Given the description of an element on the screen output the (x, y) to click on. 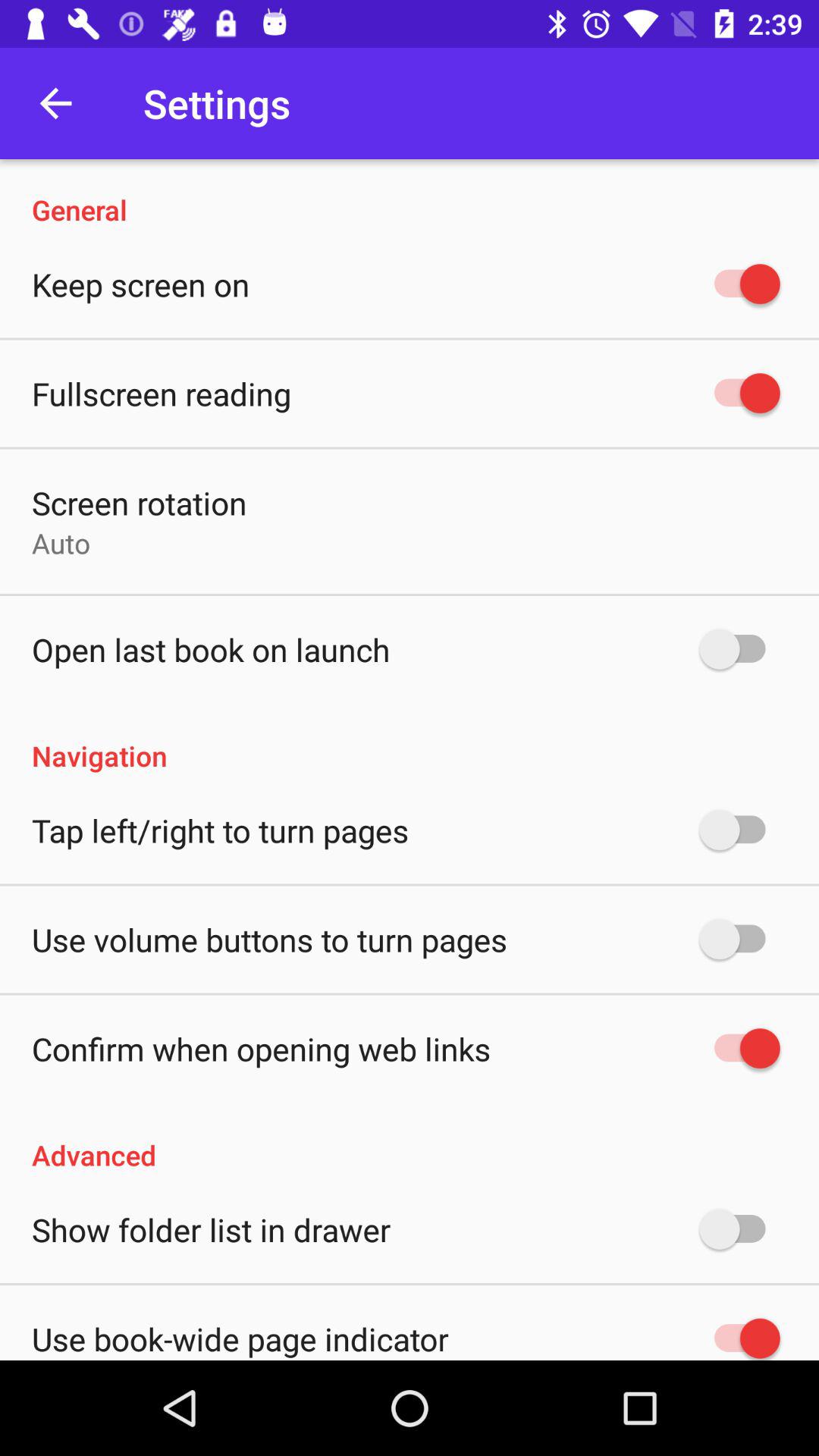
jump until the open last book (210, 649)
